Given the description of an element on the screen output the (x, y) to click on. 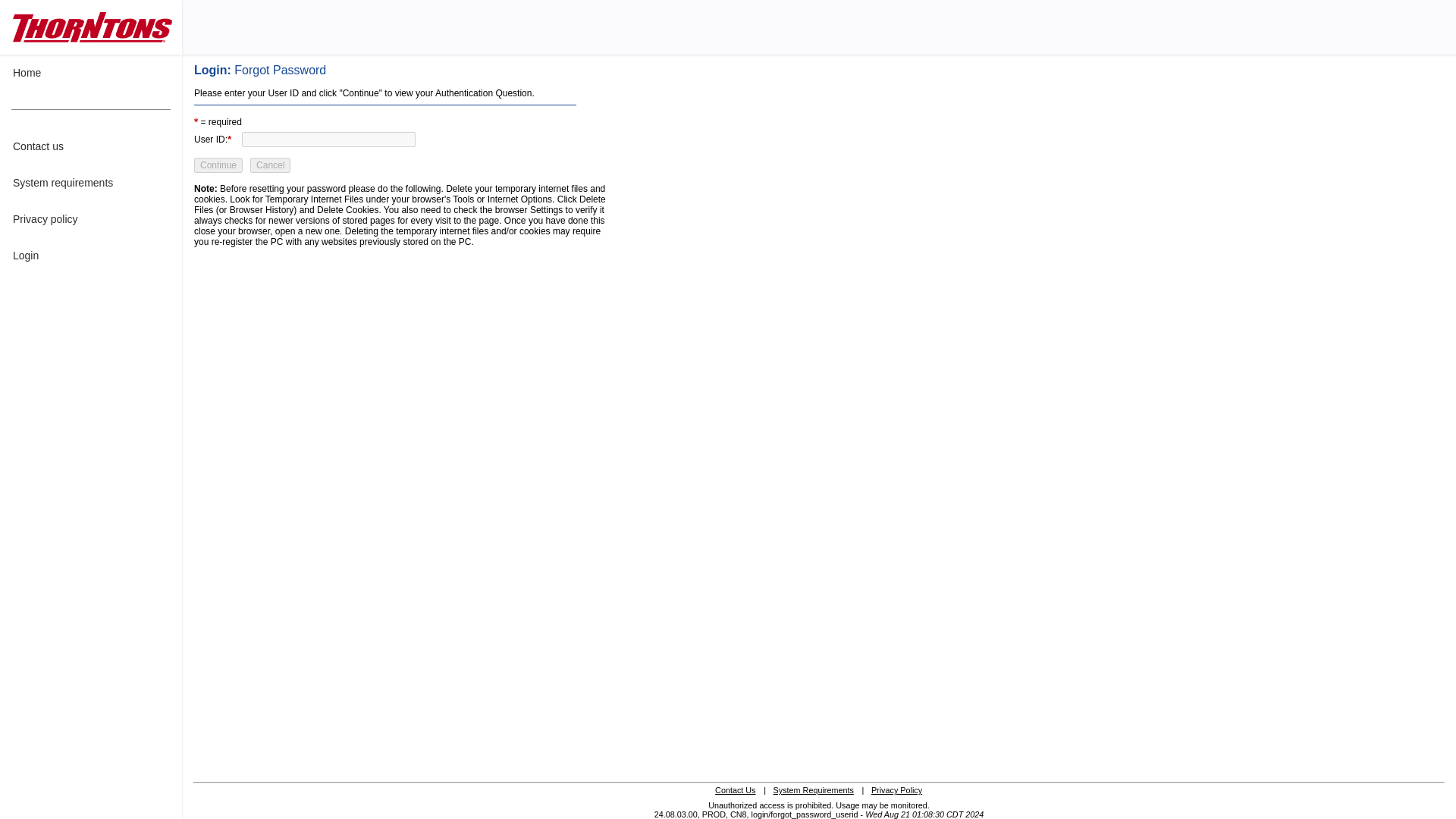
Privacy Policy (895, 789)
Contact Us (734, 789)
Continue (218, 165)
Login (91, 255)
Privacy policy (91, 218)
Cancel (269, 165)
Home (91, 72)
System requirements (91, 182)
System Requirements (813, 789)
Contact us (91, 145)
